Given the description of an element on the screen output the (x, y) to click on. 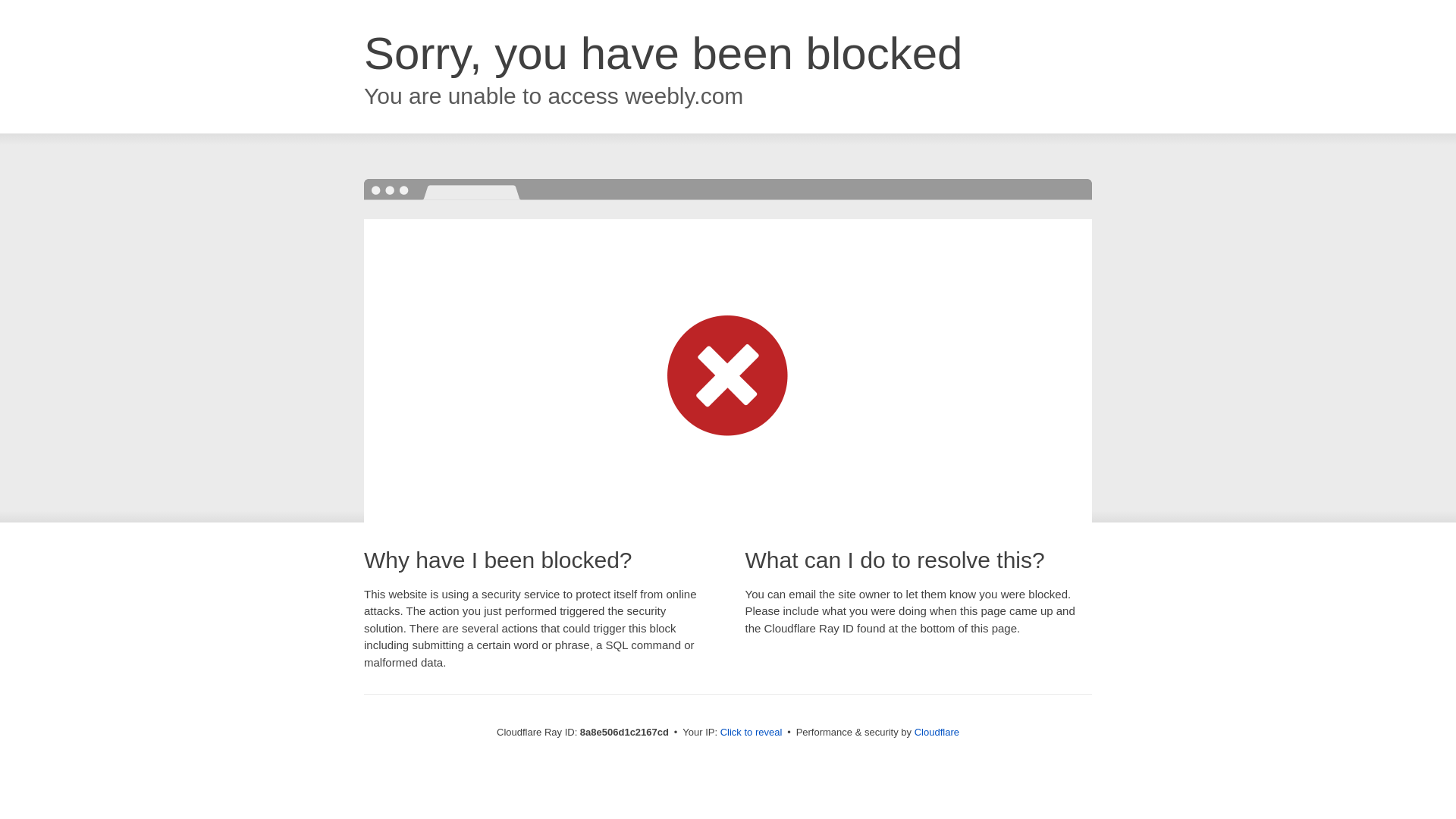
Click to reveal (751, 732)
Cloudflare (936, 731)
